Given the description of an element on the screen output the (x, y) to click on. 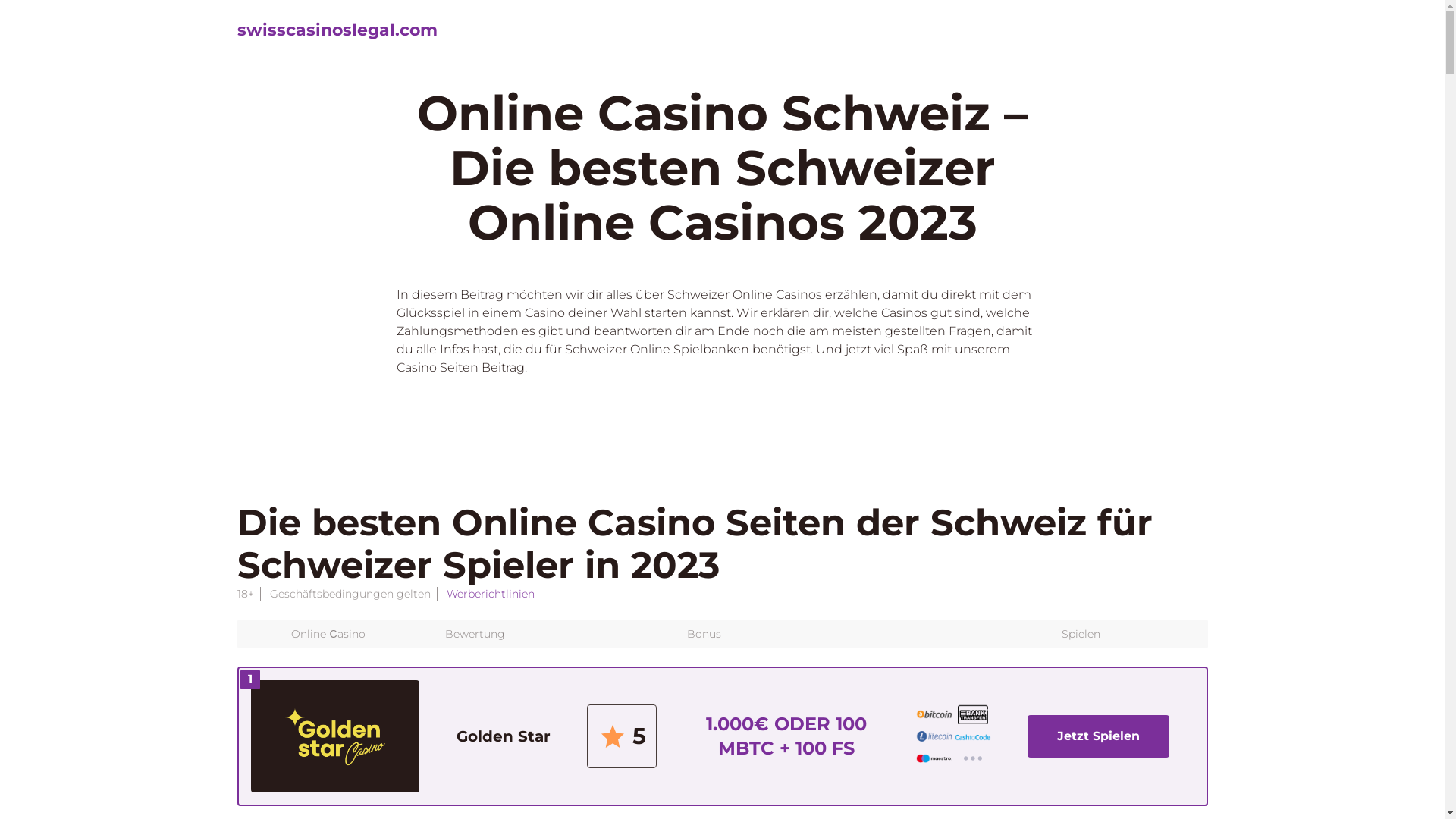
Jetzt Spielen Element type: text (1097, 736)
swisscasinoslegal.com Element type: text (336, 29)
Werberichtlinien Element type: text (489, 593)
